Given the description of an element on the screen output the (x, y) to click on. 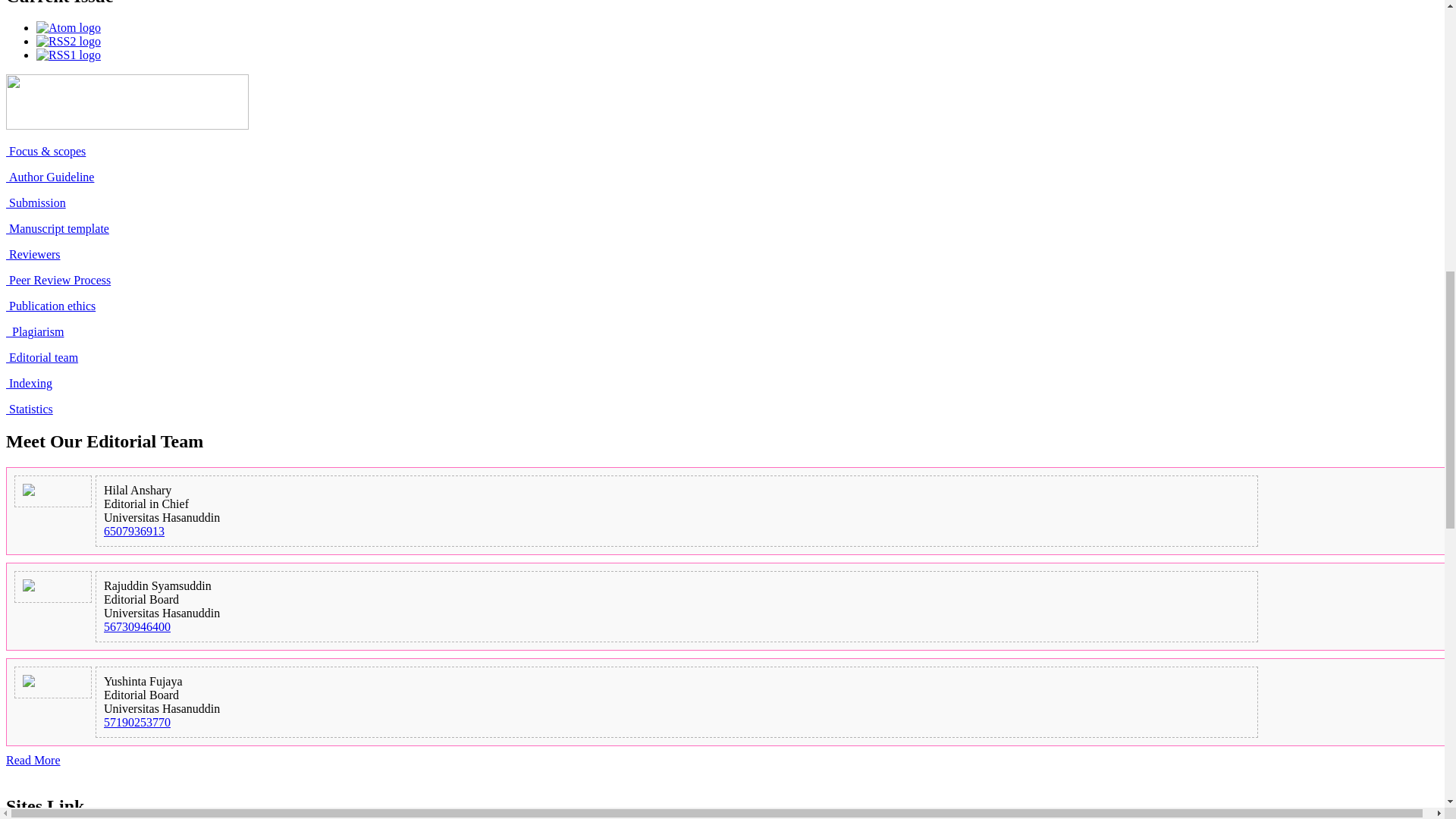
 Statistics (28, 408)
 Publication ethics (50, 305)
 Editorial team (41, 357)
57190253770 (136, 721)
 Reviewers (33, 254)
 Manuscript template (57, 228)
 Author Guideline (49, 176)
 Indexing (28, 382)
  Plagiarism (34, 331)
 Peer Review Process (57, 279)
